Given the description of an element on the screen output the (x, y) to click on. 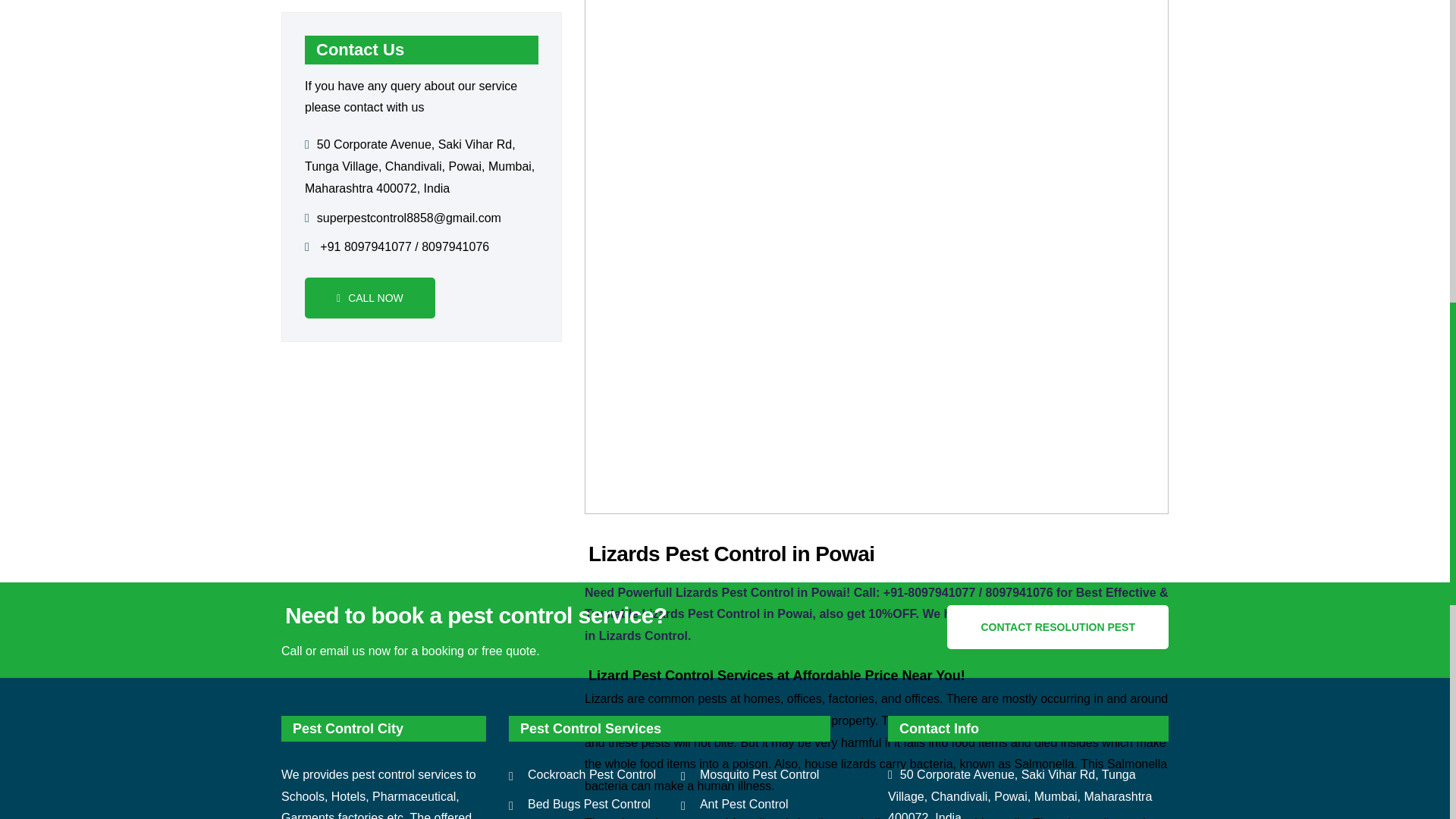
Cockroach Pest Control (582, 774)
CALL NOW (369, 297)
Bed Bugs Pest Control (579, 803)
CONTACT RESOLUTION PEST (1058, 627)
